Given the description of an element on the screen output the (x, y) to click on. 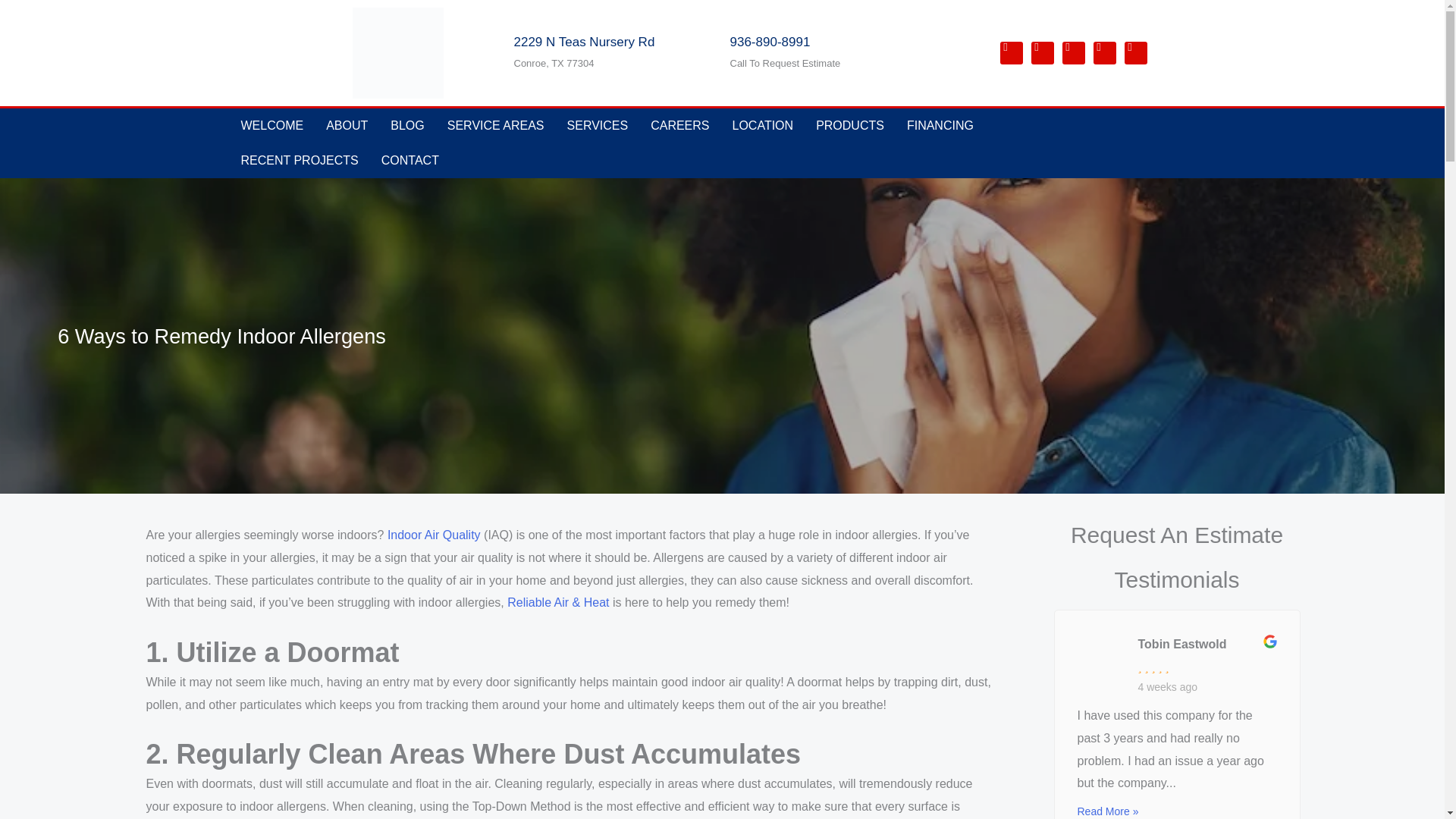
SERVICES (598, 125)
Linkedin (1042, 52)
PRODUCTS (850, 125)
Indoor Air Quality (433, 534)
RECENT PROJECTS (298, 160)
LOCATION (762, 125)
Twitter (1072, 52)
SERVICE AREAS (495, 125)
FINANCING (940, 125)
CONTACT (409, 160)
Instagram (1135, 52)
ABOUT (346, 125)
BLOG (406, 125)
CAREERS (679, 125)
WELCOME (271, 125)
